Given the description of an element on the screen output the (x, y) to click on. 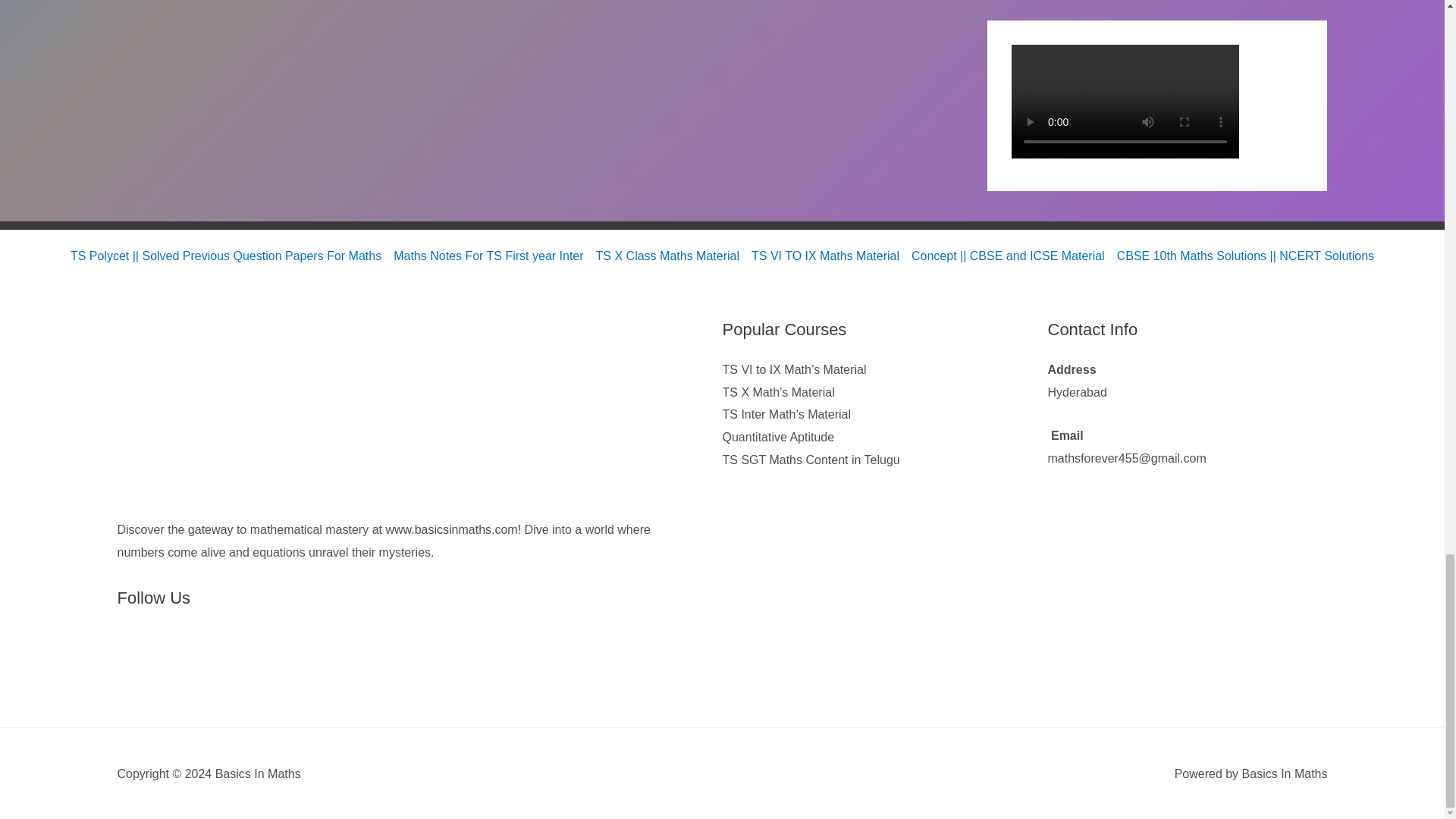
RSS (134, 662)
Facebook (202, 662)
Follow by Email (169, 662)
